Given the description of an element on the screen output the (x, y) to click on. 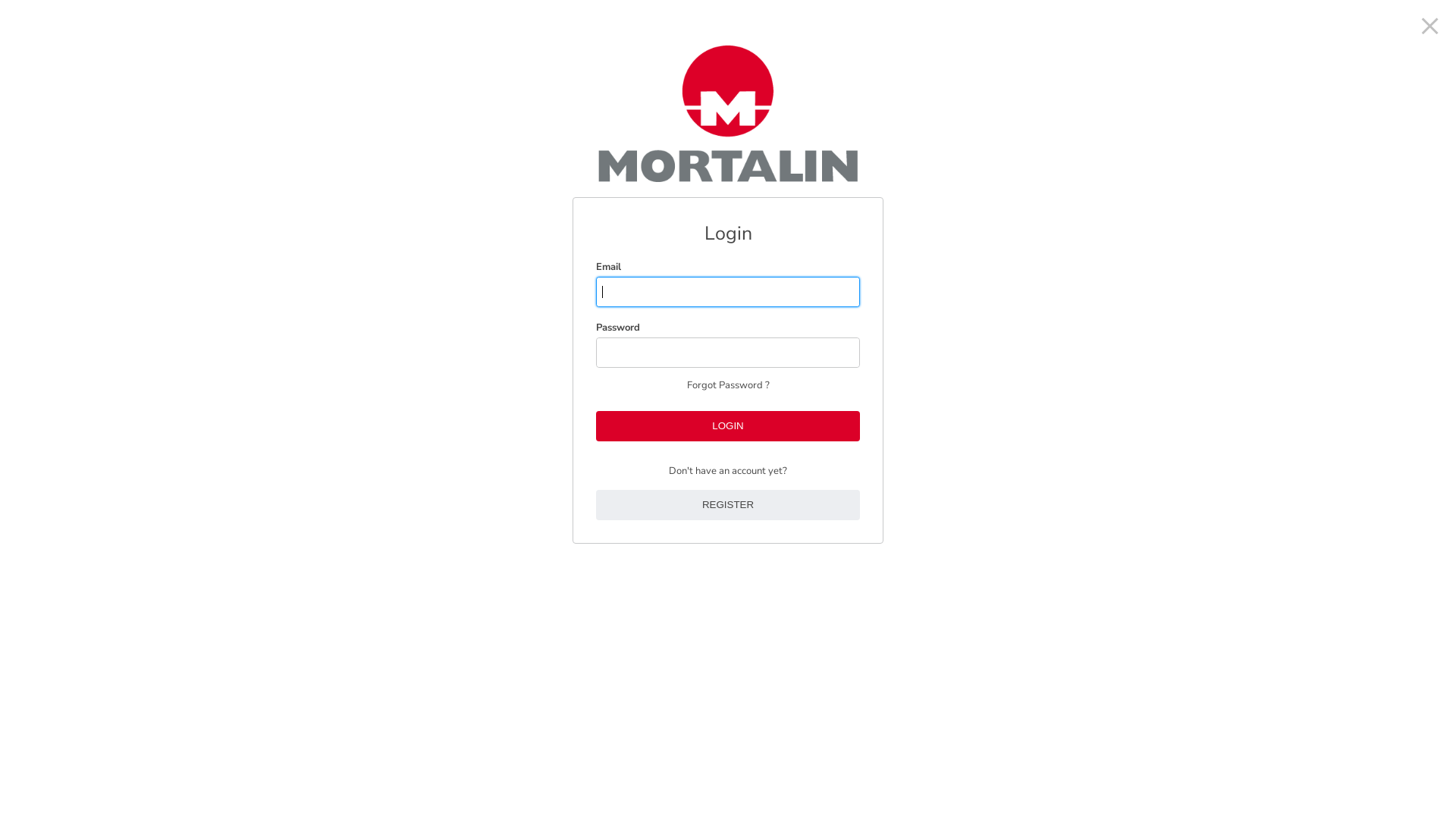
REGISTER Element type: text (727, 504)
Forgot Password ? Element type: text (727, 405)
LOGIN Element type: text (727, 426)
